Given the description of an element on the screen output the (x, y) to click on. 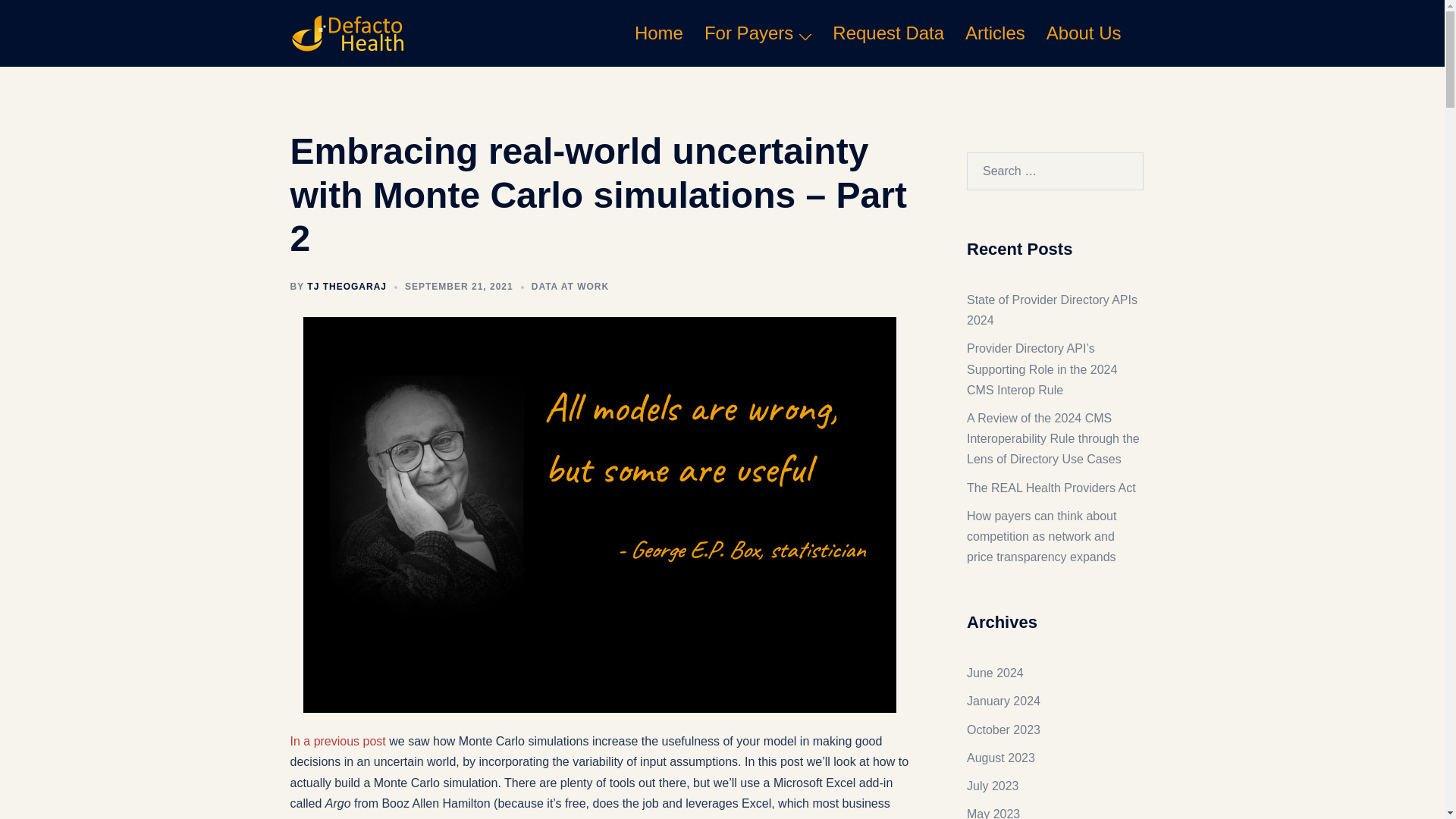
About Us (1083, 33)
Articles (995, 33)
TJ THEOGARAJ (347, 286)
In a previous post (337, 740)
January 2024 (1003, 700)
August 2023 (1000, 757)
DATA AT WORK (569, 286)
State of Provider Directory APIs 2024 (1051, 309)
October 2023 (1003, 729)
